Given the description of an element on the screen output the (x, y) to click on. 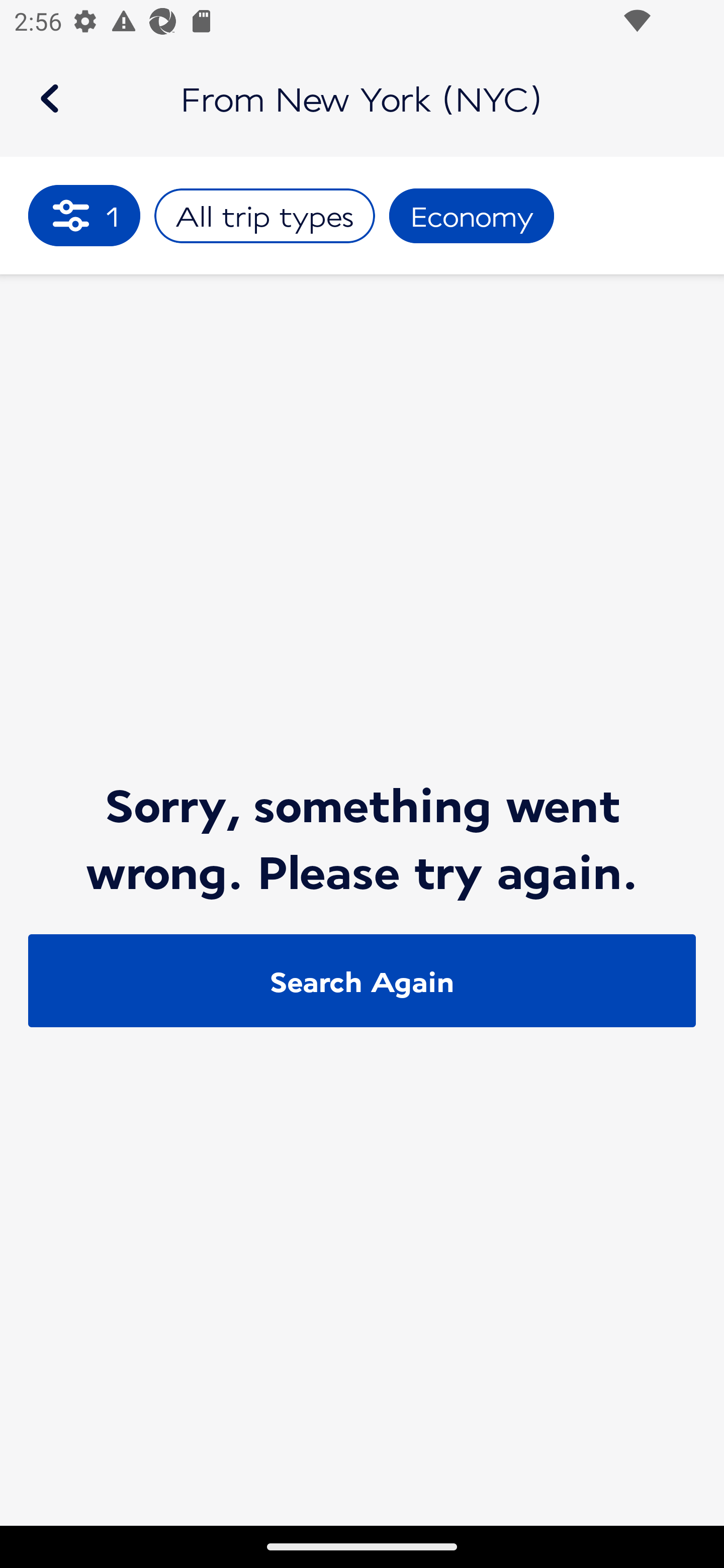
leading 1 (84, 215)
All trip types (264, 216)
Economy (471, 216)
Search Again (361, 980)
